Given the description of an element on the screen output the (x, y) to click on. 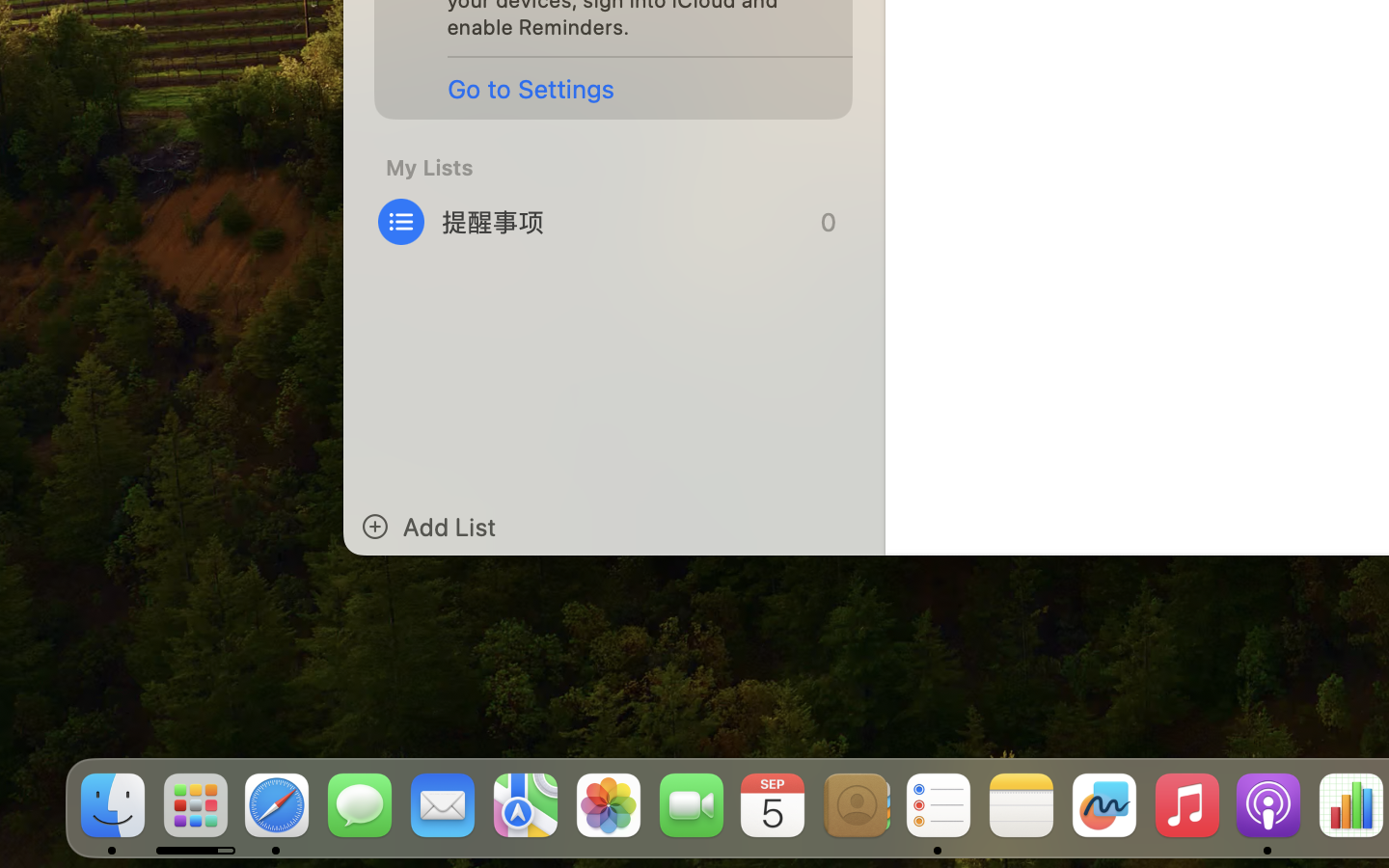
提醒事项 Element type: AXTextField (613, 221)
